Given the description of an element on the screen output the (x, y) to click on. 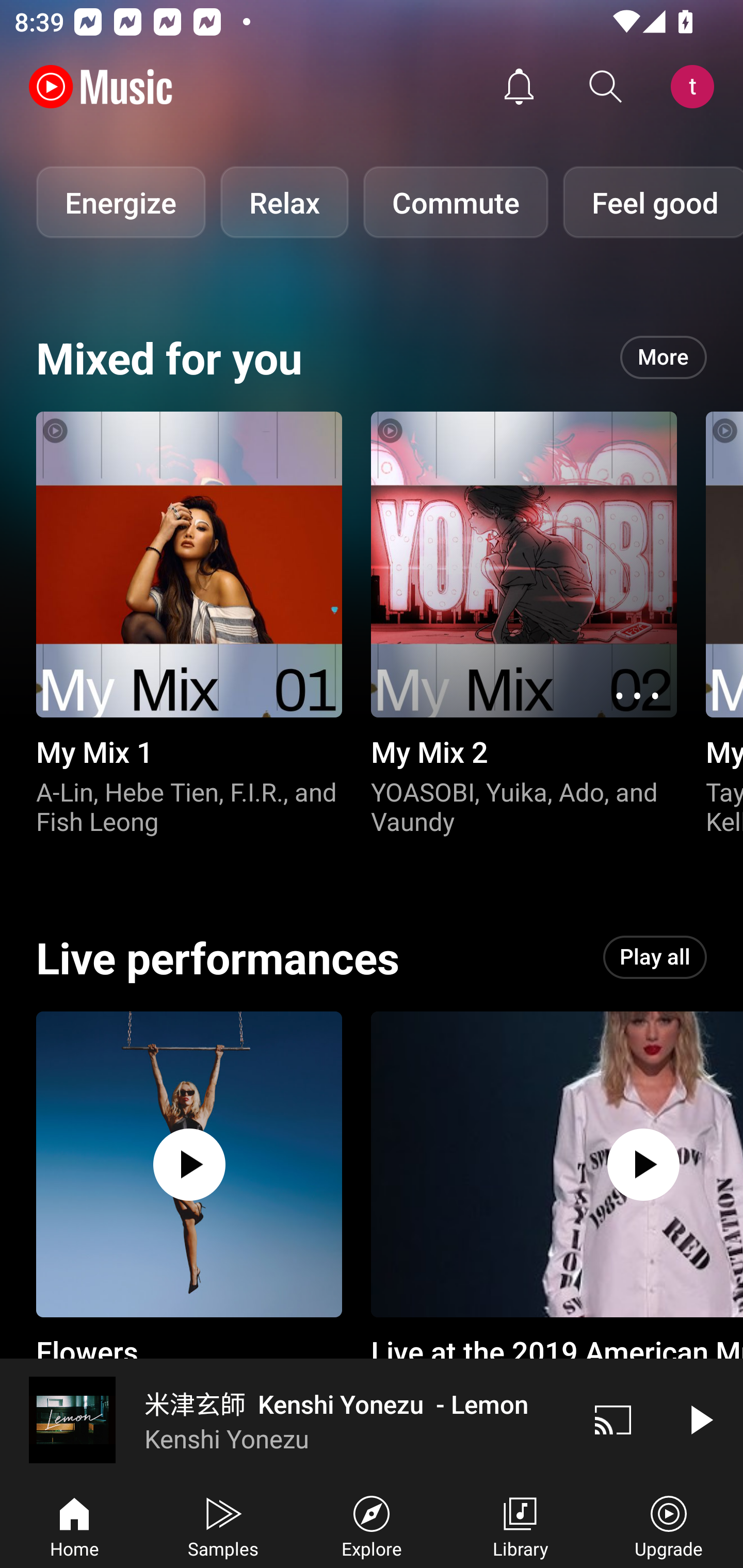
Activity feed (518, 86)
Search (605, 86)
Account (696, 86)
米津玄師  Kenshi Yonezu  - Lemon Kenshi Yonezu (284, 1419)
Cast. Disconnected (612, 1419)
Play video (699, 1419)
Home (74, 1524)
Samples (222, 1524)
Explore (371, 1524)
Library (519, 1524)
Upgrade (668, 1524)
